Given the description of an element on the screen output the (x, y) to click on. 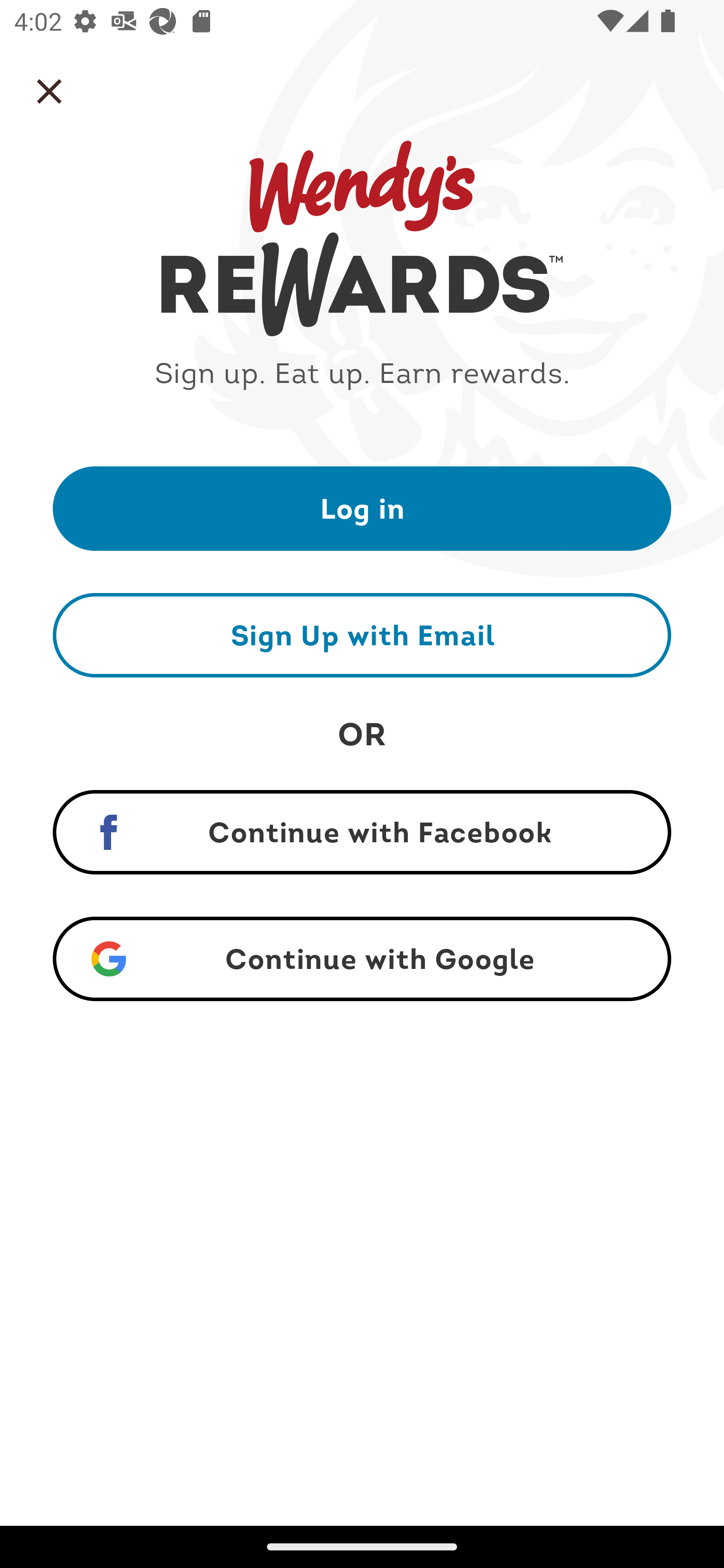
close (49, 91)
Log in (361, 507)
Sign Up with Email (361, 634)
Continue with Facebook (361, 832)
Continue with Google (361, 958)
